Given the description of an element on the screen output the (x, y) to click on. 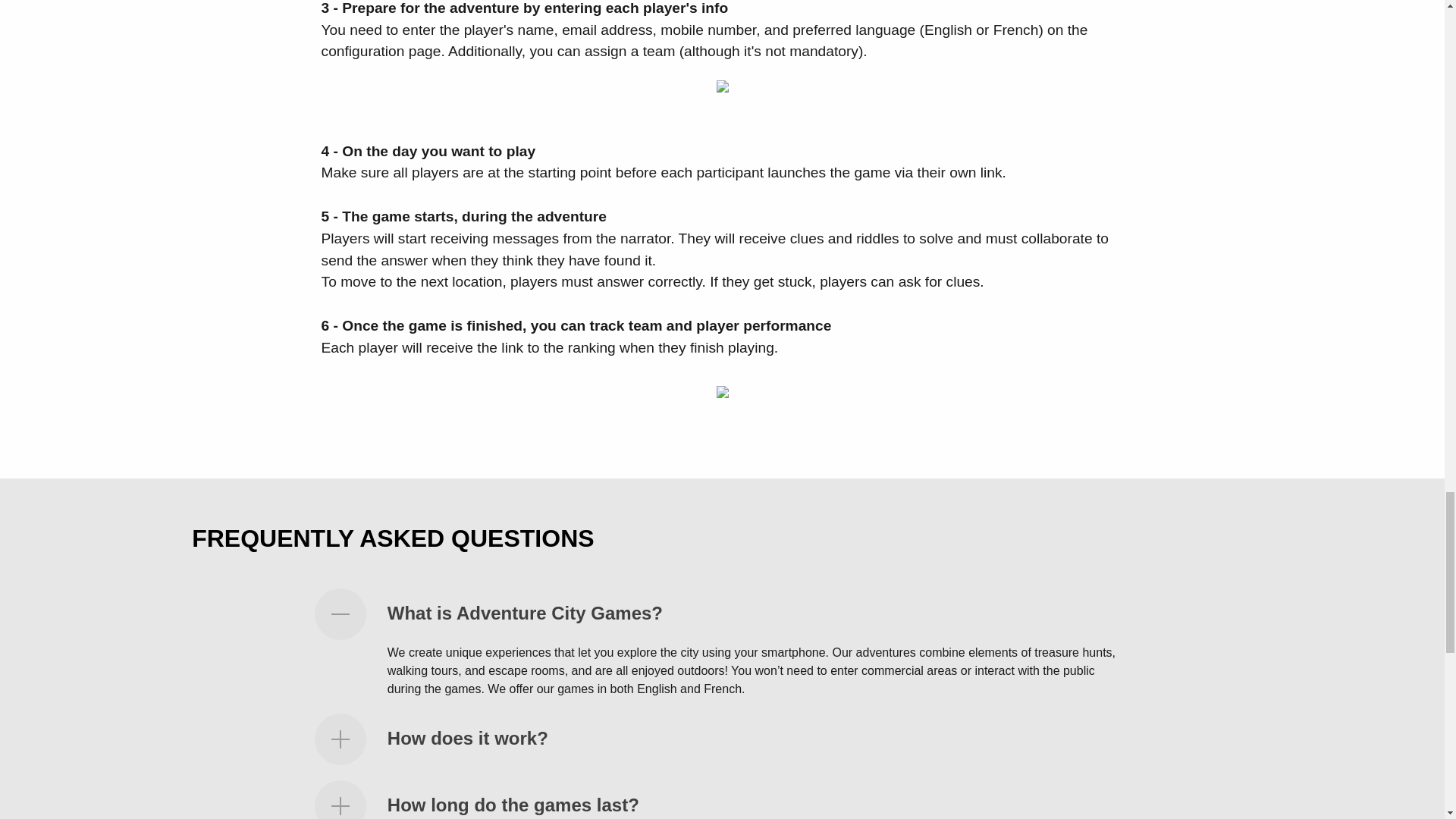
How long do the games last? (513, 804)
How does it work? (467, 738)
What is Adventure City Games? (524, 612)
